Given the description of an element on the screen output the (x, y) to click on. 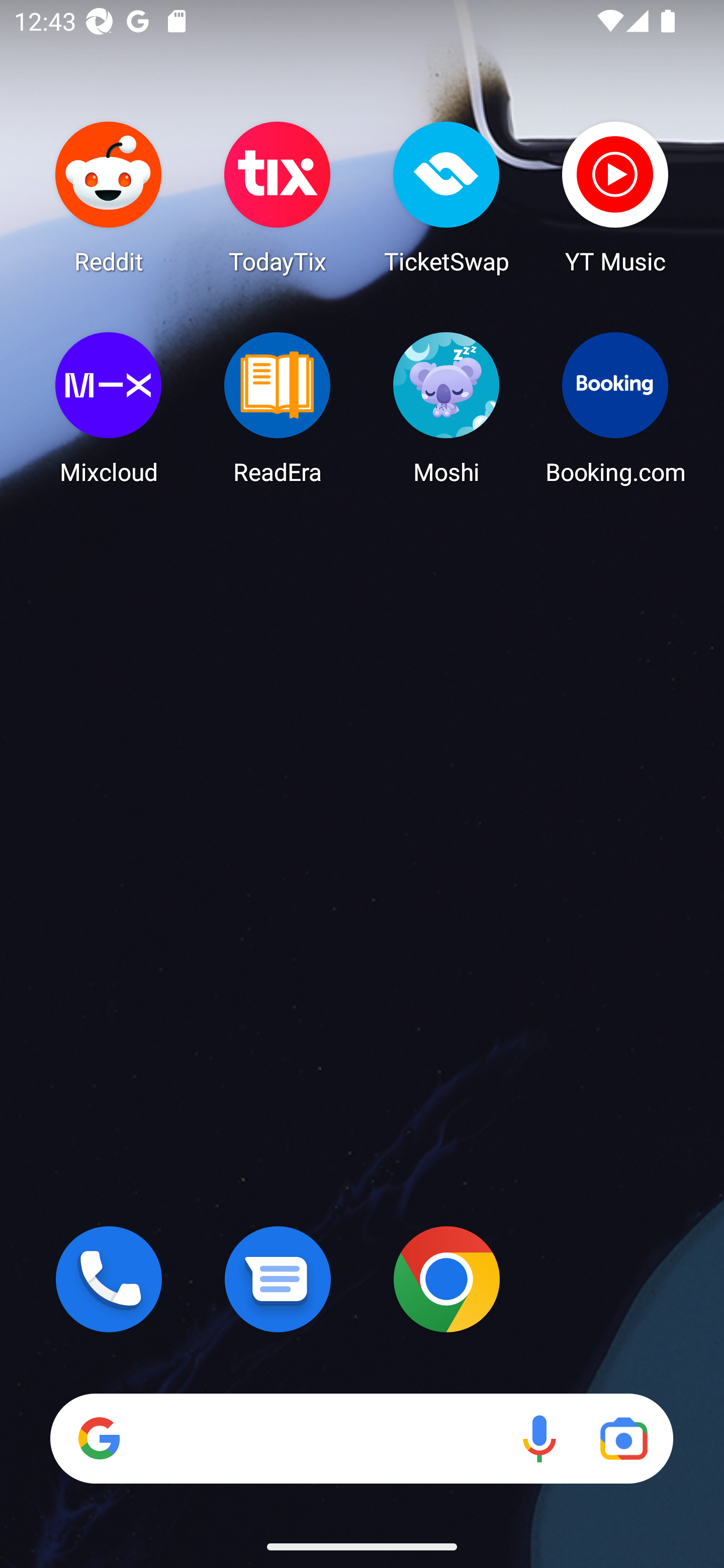
Reddit (108, 196)
TodayTix (277, 196)
TicketSwap (445, 196)
YT Music (615, 196)
Mixcloud (108, 407)
ReadEra (277, 407)
Moshi (445, 407)
Booking.com (615, 407)
Phone (108, 1279)
Messages (277, 1279)
Chrome (446, 1279)
Search Voice search Google Lens (361, 1438)
Voice search (539, 1438)
Google Lens (623, 1438)
